Given the description of an element on the screen output the (x, y) to click on. 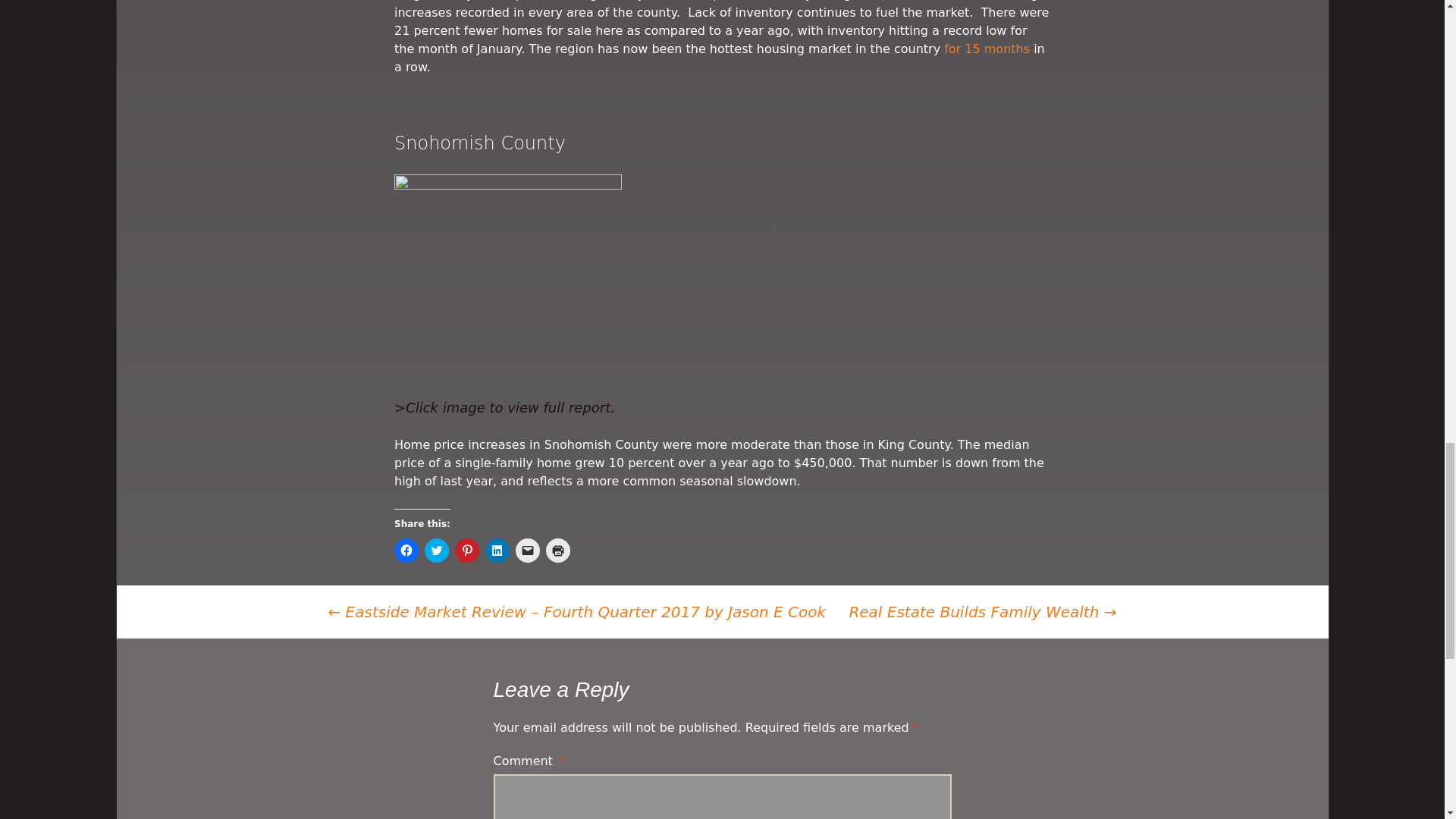
Click to print (558, 550)
Click to share on Facebook (406, 550)
Click to share on Pinterest (466, 550)
Click to email a link to a friend (527, 550)
Click to share on LinkedIn (496, 550)
Click to share on Twitter (436, 550)
